Given the description of an element on the screen output the (x, y) to click on. 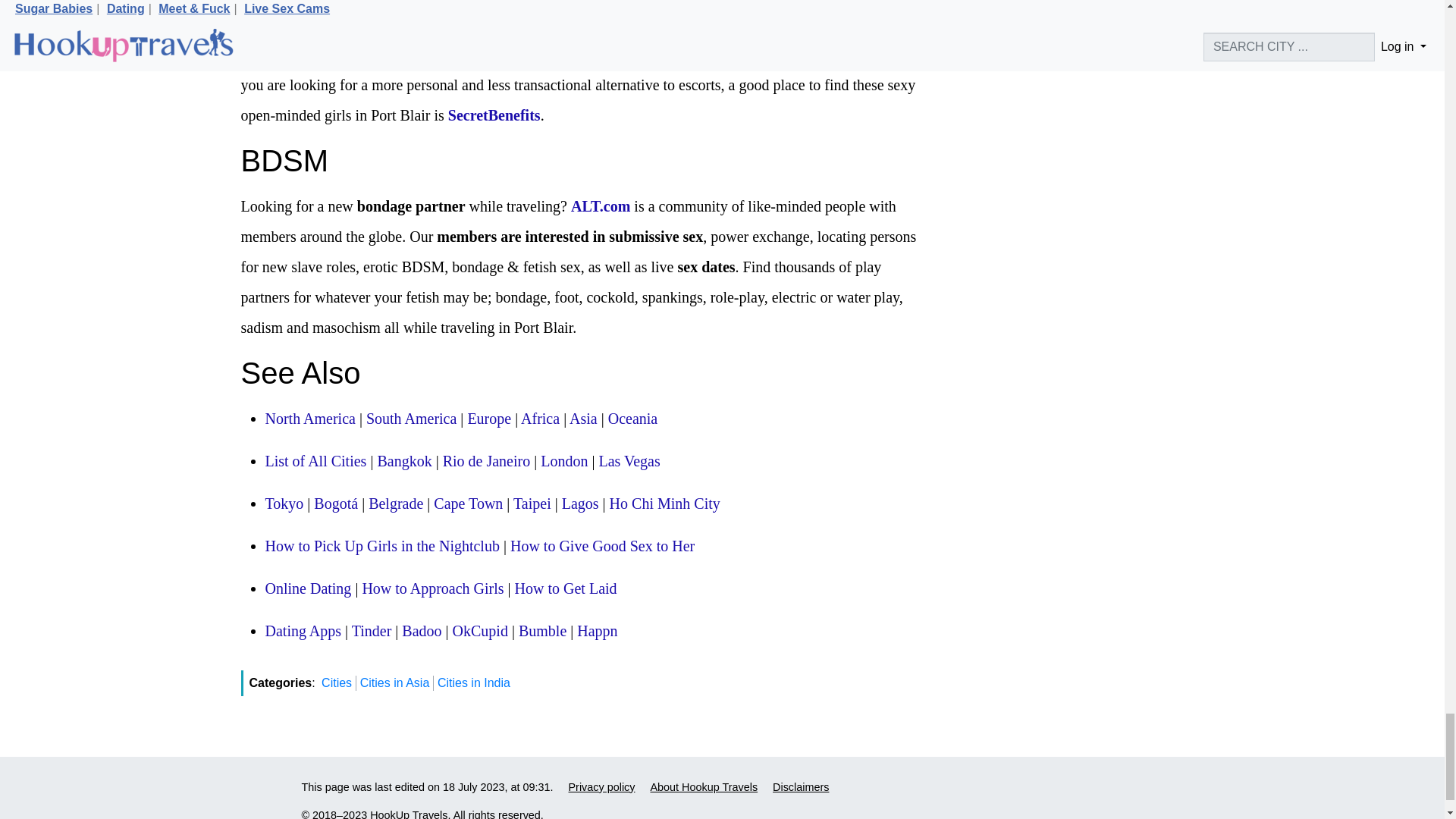
Oceania (633, 418)
Tokyo (284, 503)
SecretBenefits (494, 115)
Las Vegas (628, 460)
Asia (582, 418)
Europe (489, 418)
ALT.com (600, 206)
South America (411, 418)
London (564, 460)
Rio de Janeiro (486, 460)
Africa (540, 418)
Bangkok (403, 460)
North America (309, 418)
North America (309, 418)
Category:Cities (315, 460)
